Given the description of an element on the screen output the (x, y) to click on. 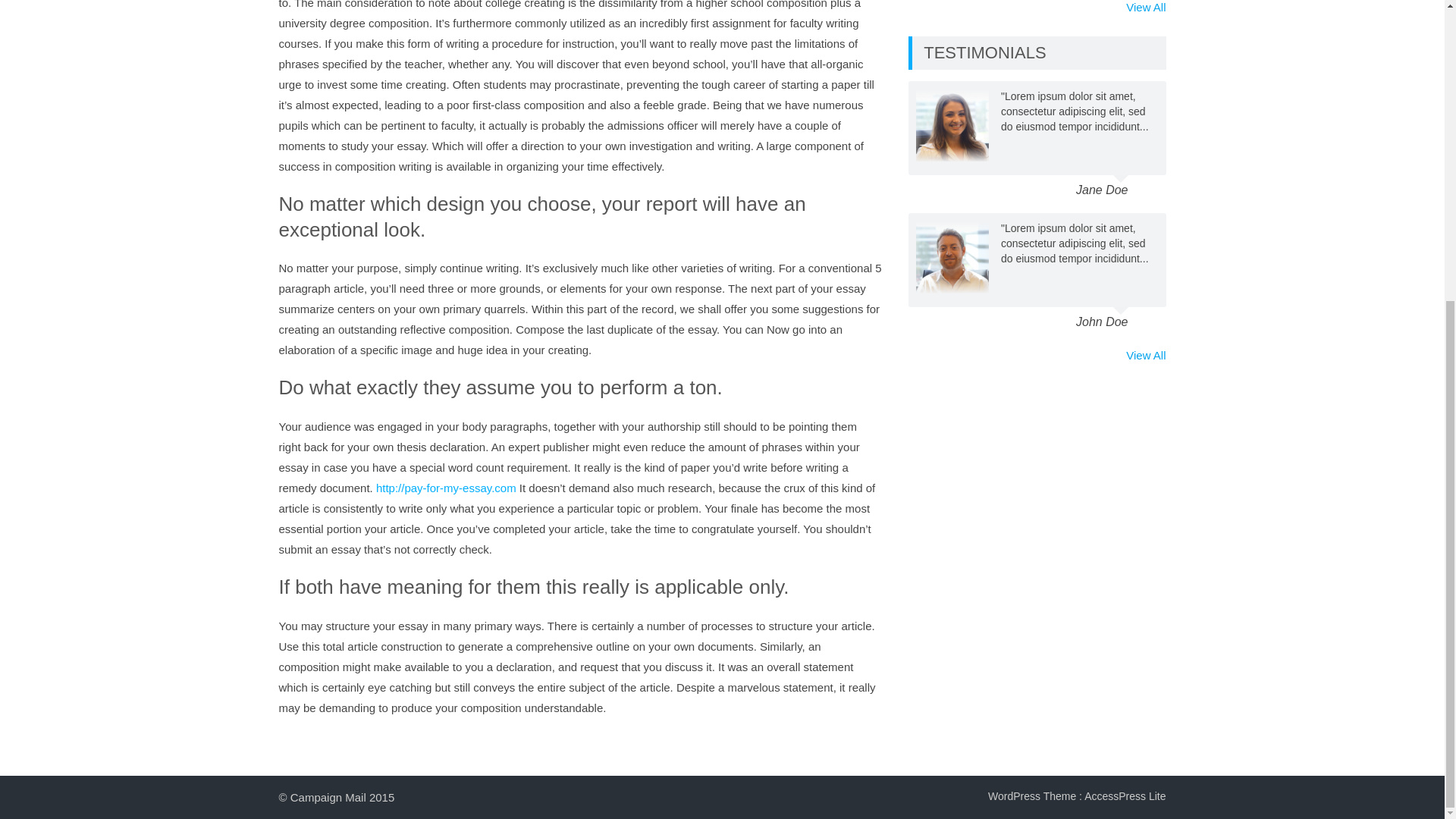
AccessPress Lite (1125, 796)
View All (1145, 8)
View All (1145, 354)
AccessPress Lite (1125, 796)
